Given the description of an element on the screen output the (x, y) to click on. 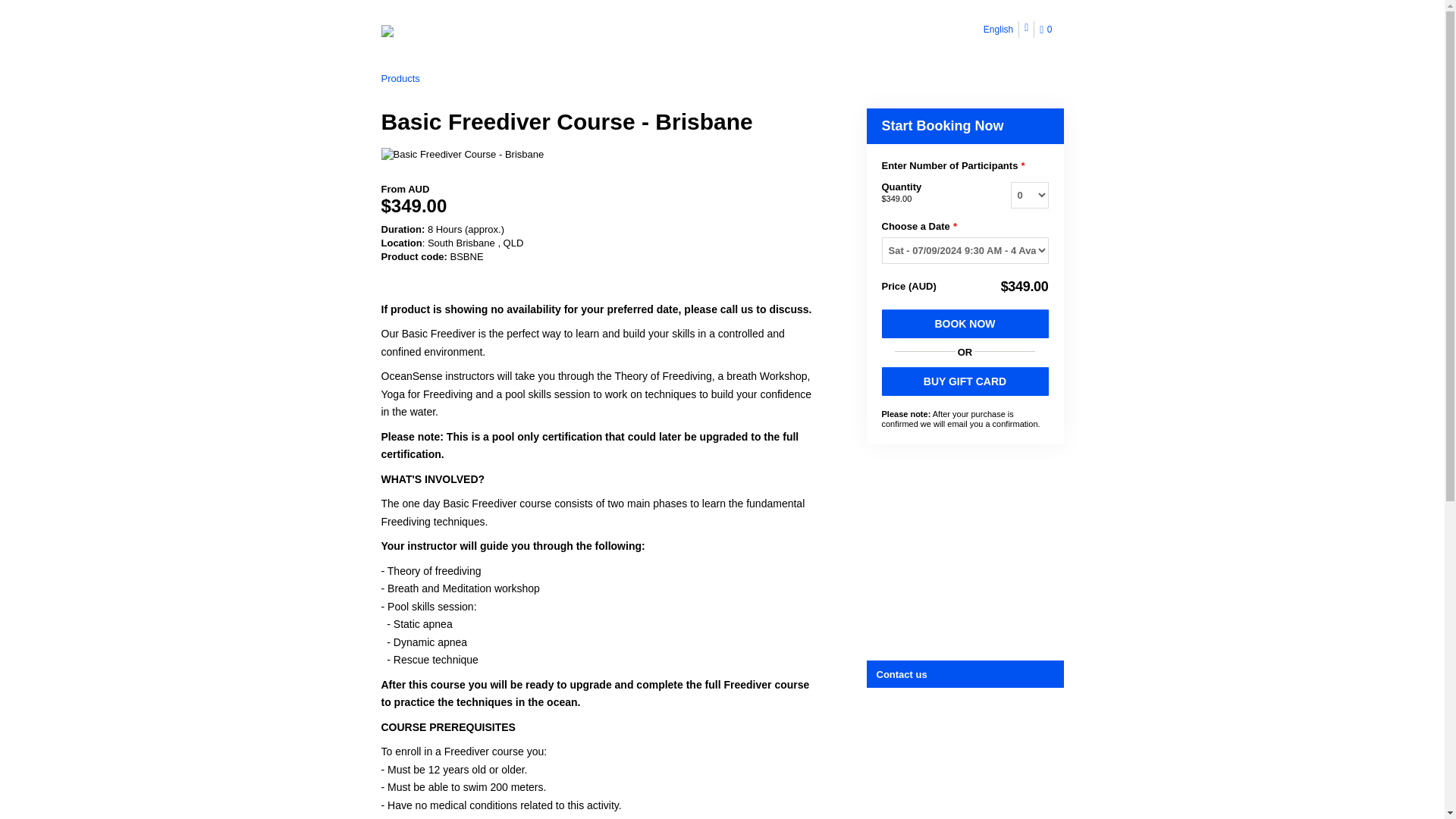
Products (399, 78)
Contact us (965, 673)
English (998, 29)
0 (1047, 30)
BOOK NOW (964, 323)
BUY GIFT CARD (964, 380)
